Given the description of an element on the screen output the (x, y) to click on. 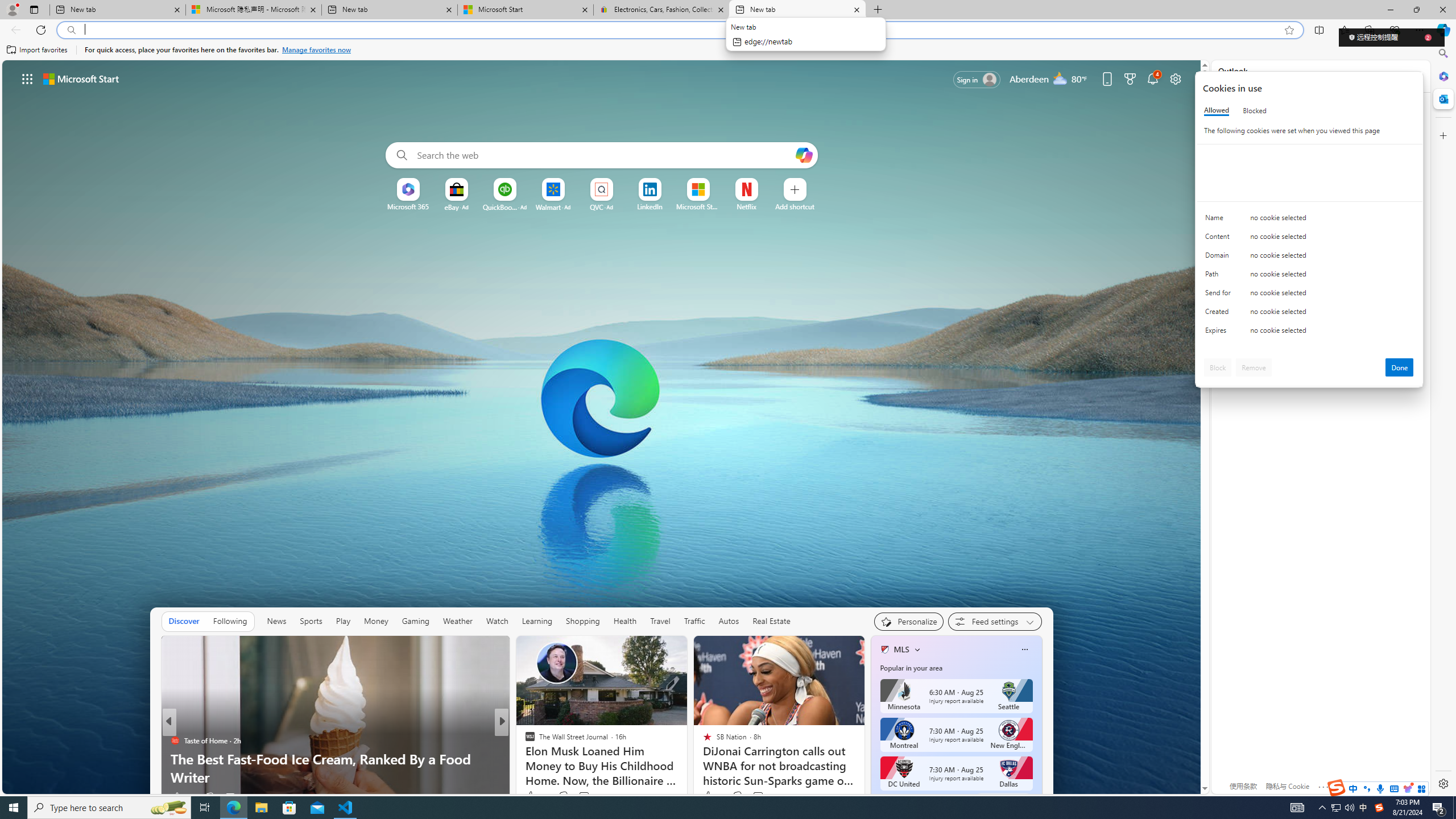
View comments 7 Comment (760, 795)
Outlook (1442, 98)
Weather (457, 621)
Autos (728, 621)
View comments 13 Comment (580, 797)
Play (342, 621)
Health (624, 621)
Name (1219, 220)
Watch (496, 621)
View comments 5 Comment (583, 796)
